Given the description of an element on the screen output the (x, y) to click on. 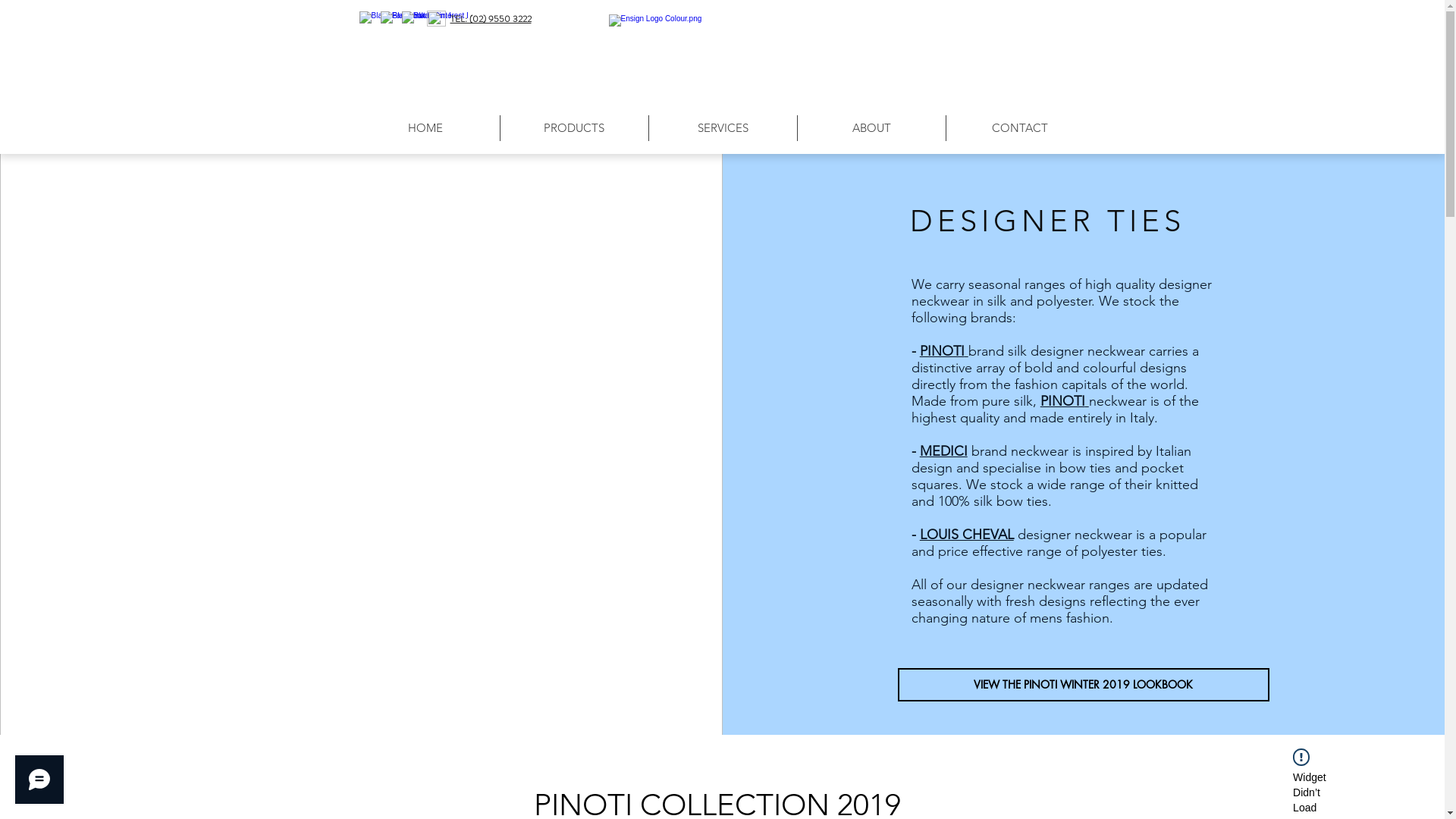
TEL: (02) 9550 3222 Element type: text (490, 18)
LOUIS CHEVAL Element type: text (966, 534)
Site Search Element type: hover (1036, 18)
VIEW THE PINOTI WINTER 2019 LOOKBOOK Element type: text (1083, 684)
PINOTI Element type: text (943, 350)
MEDICI Element type: text (943, 450)
HOME Element type: text (424, 128)
ABOUT Element type: text (870, 128)
PINOTI Element type: text (1064, 400)
